Given the description of an element on the screen output the (x, y) to click on. 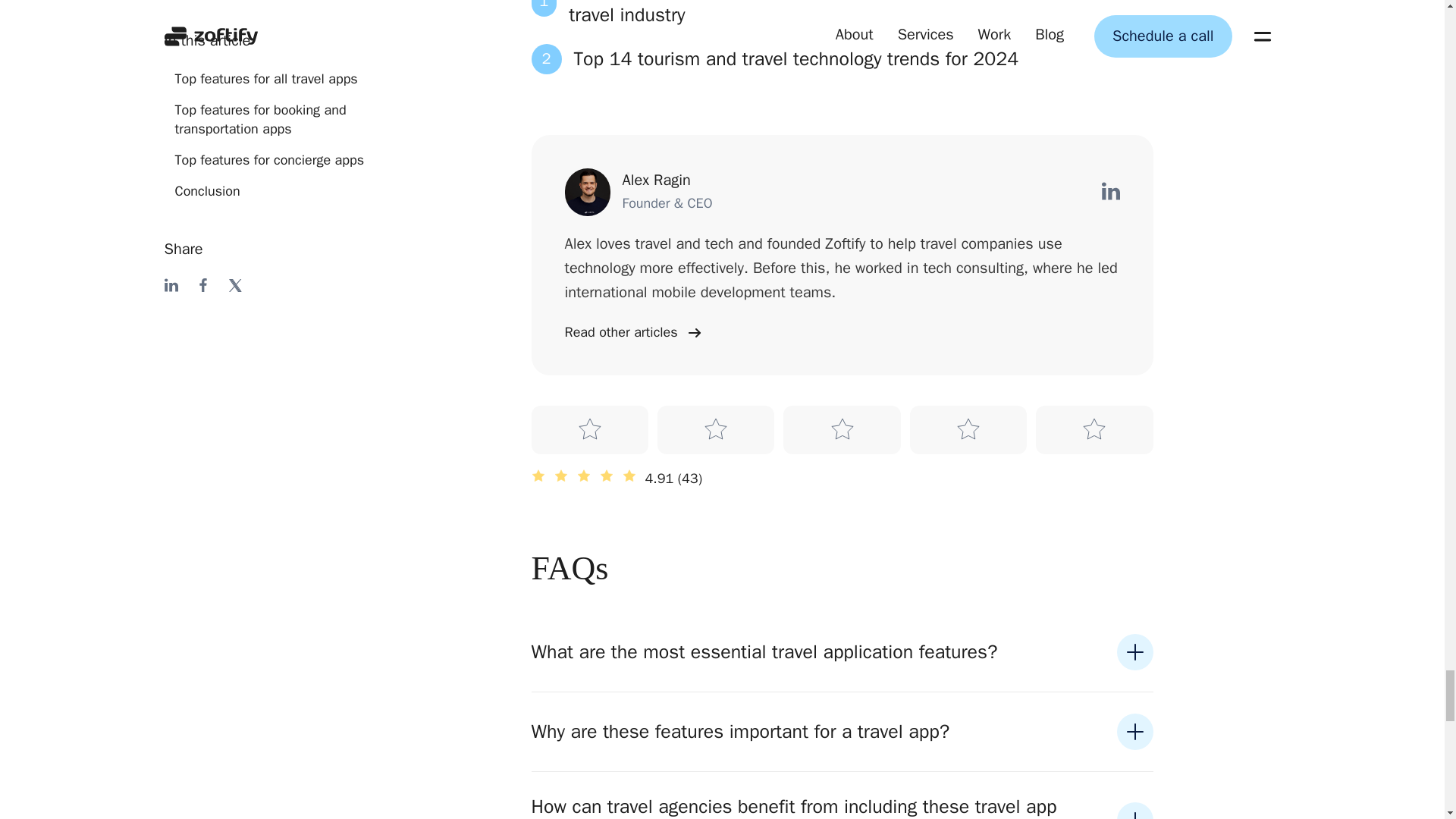
Read other articles (842, 59)
